Given the description of an element on the screen output the (x, y) to click on. 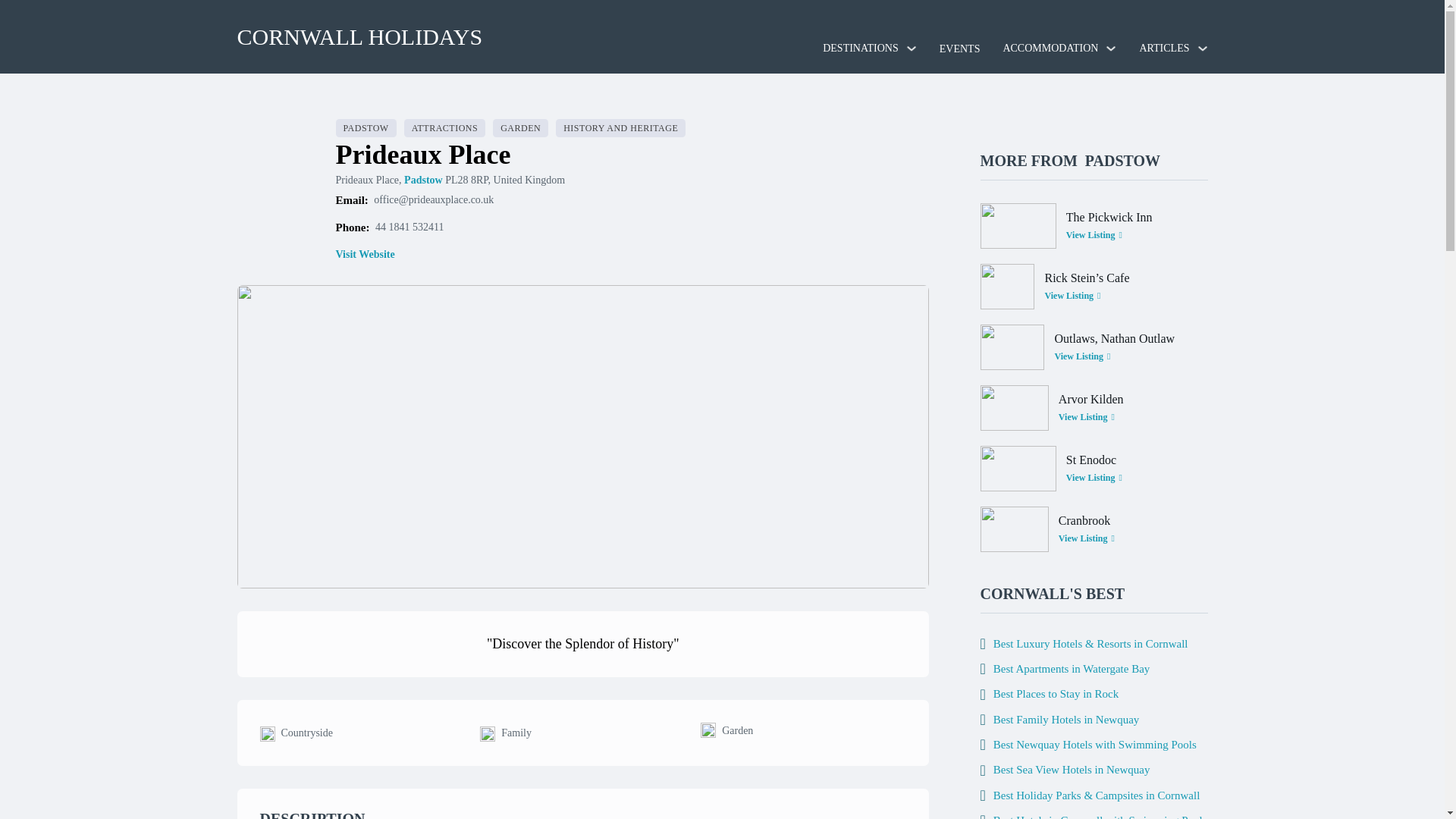
CORNWALL HOLIDAYS (358, 36)
Padstow (423, 179)
ACCOMMODATION (1050, 48)
EVENTS (959, 48)
ARTICLES (1163, 48)
DESTINATIONS (860, 48)
